Given the description of an element on the screen output the (x, y) to click on. 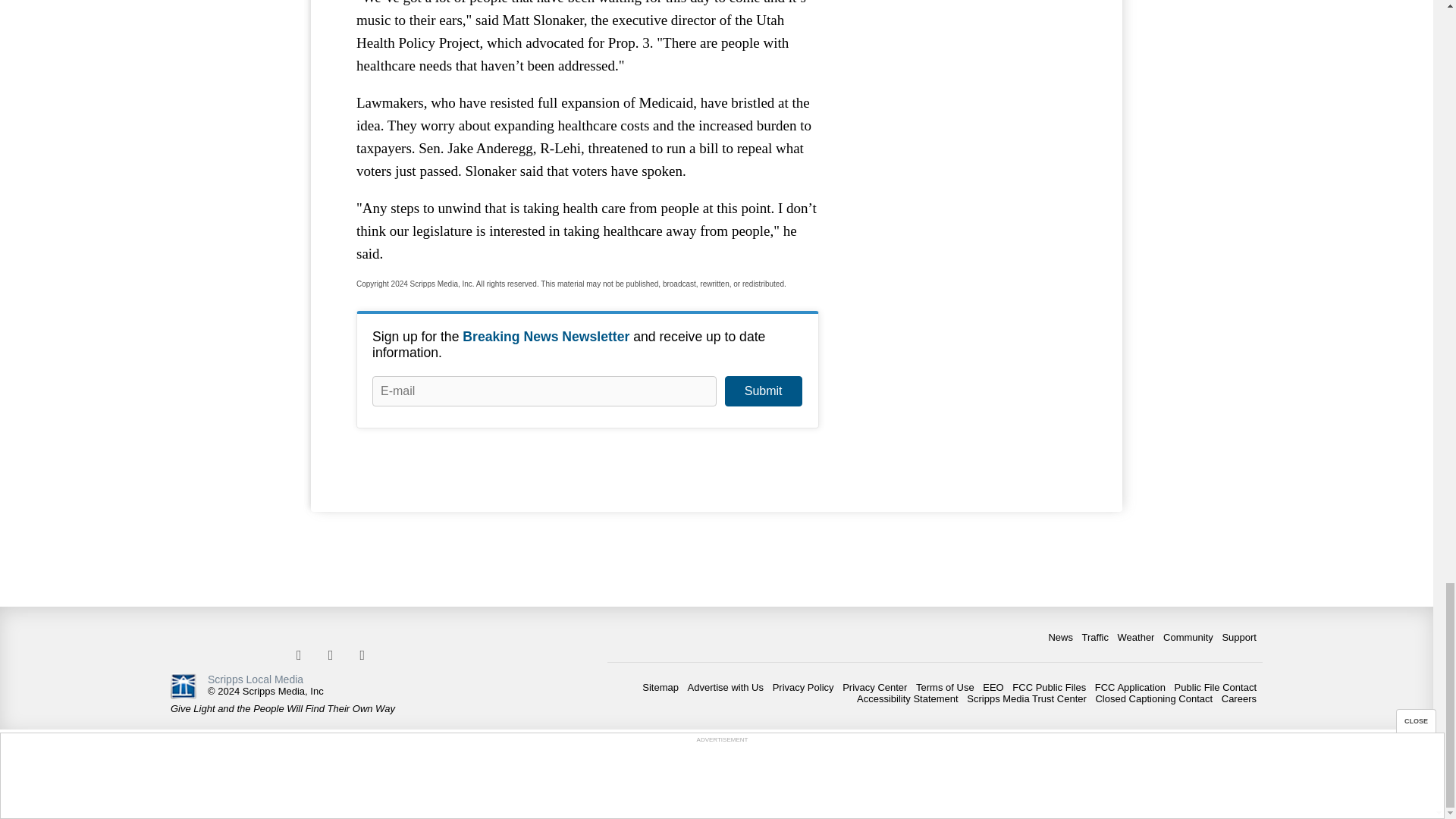
Submit (763, 390)
